Given the description of an element on the screen output the (x, y) to click on. 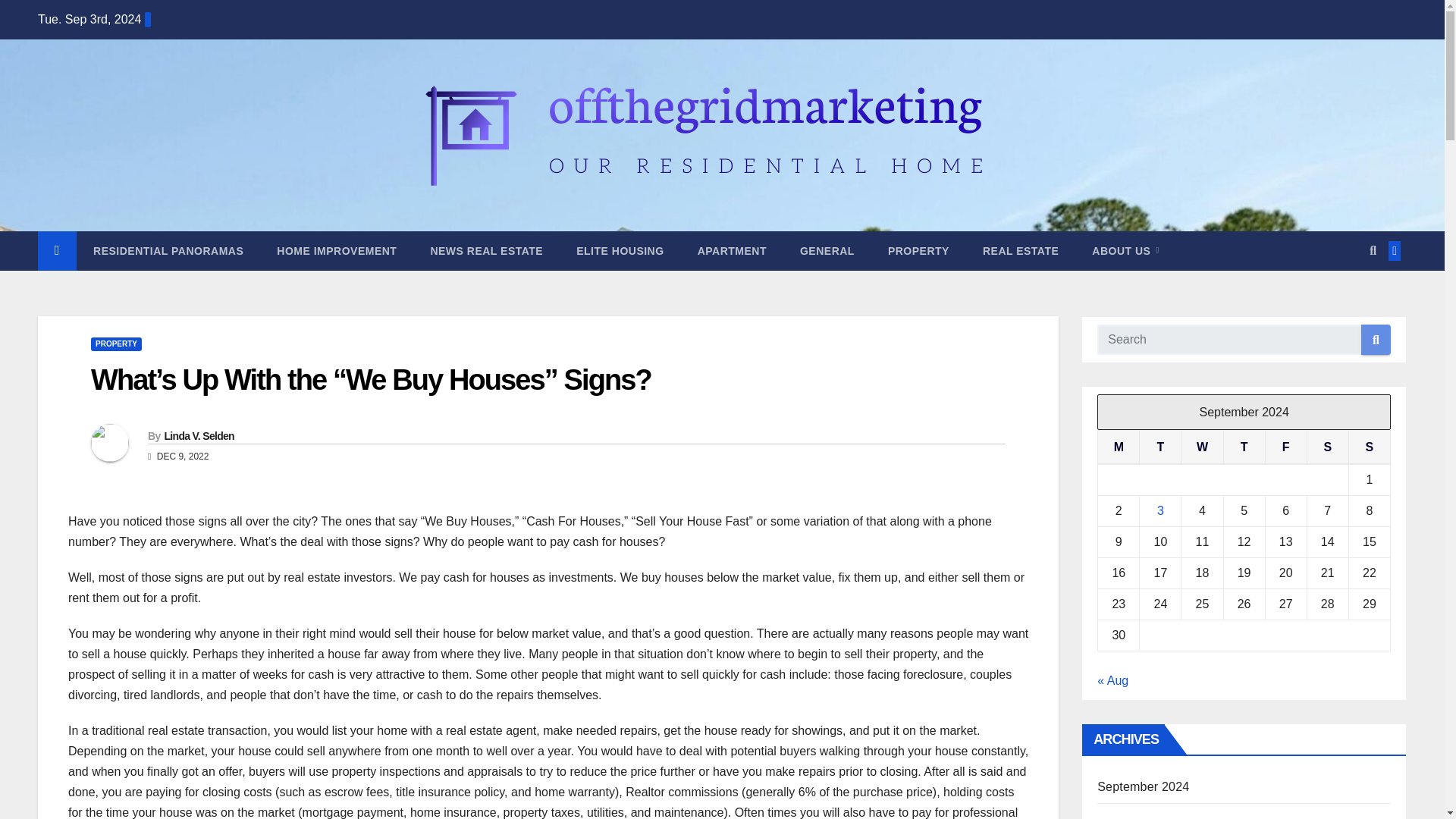
APARTMENT (732, 250)
GENERAL (826, 250)
Apartment (732, 250)
News real estate (486, 250)
Property (918, 250)
ELITE HOUSING (619, 250)
NEWS REAL ESTATE (486, 250)
Real Estate (1020, 250)
ABOUT US (1124, 250)
General (826, 250)
